Given the description of an element on the screen output the (x, y) to click on. 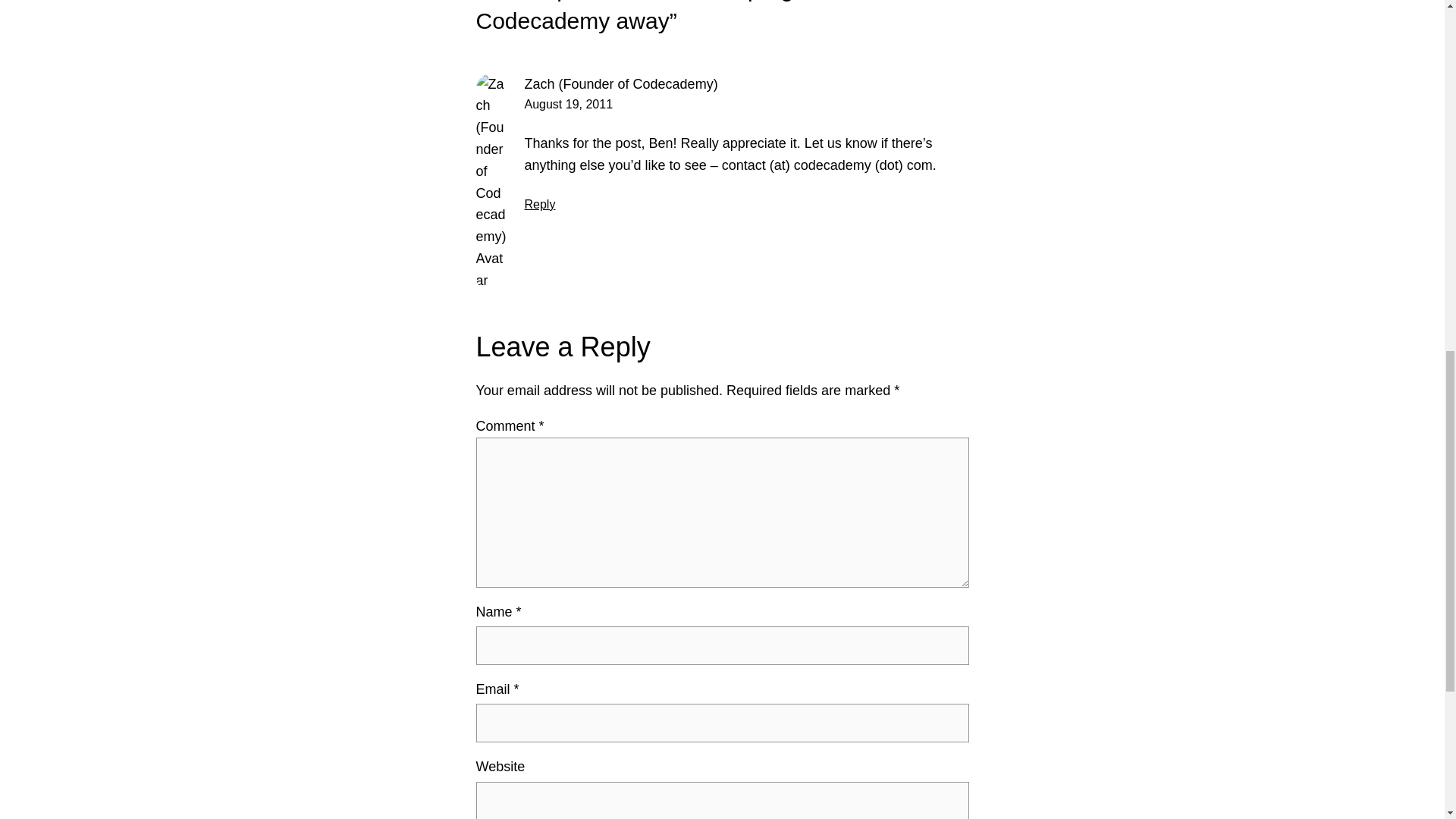
August 19, 2011 (568, 103)
Reply (540, 204)
